Given the description of an element on the screen output the (x, y) to click on. 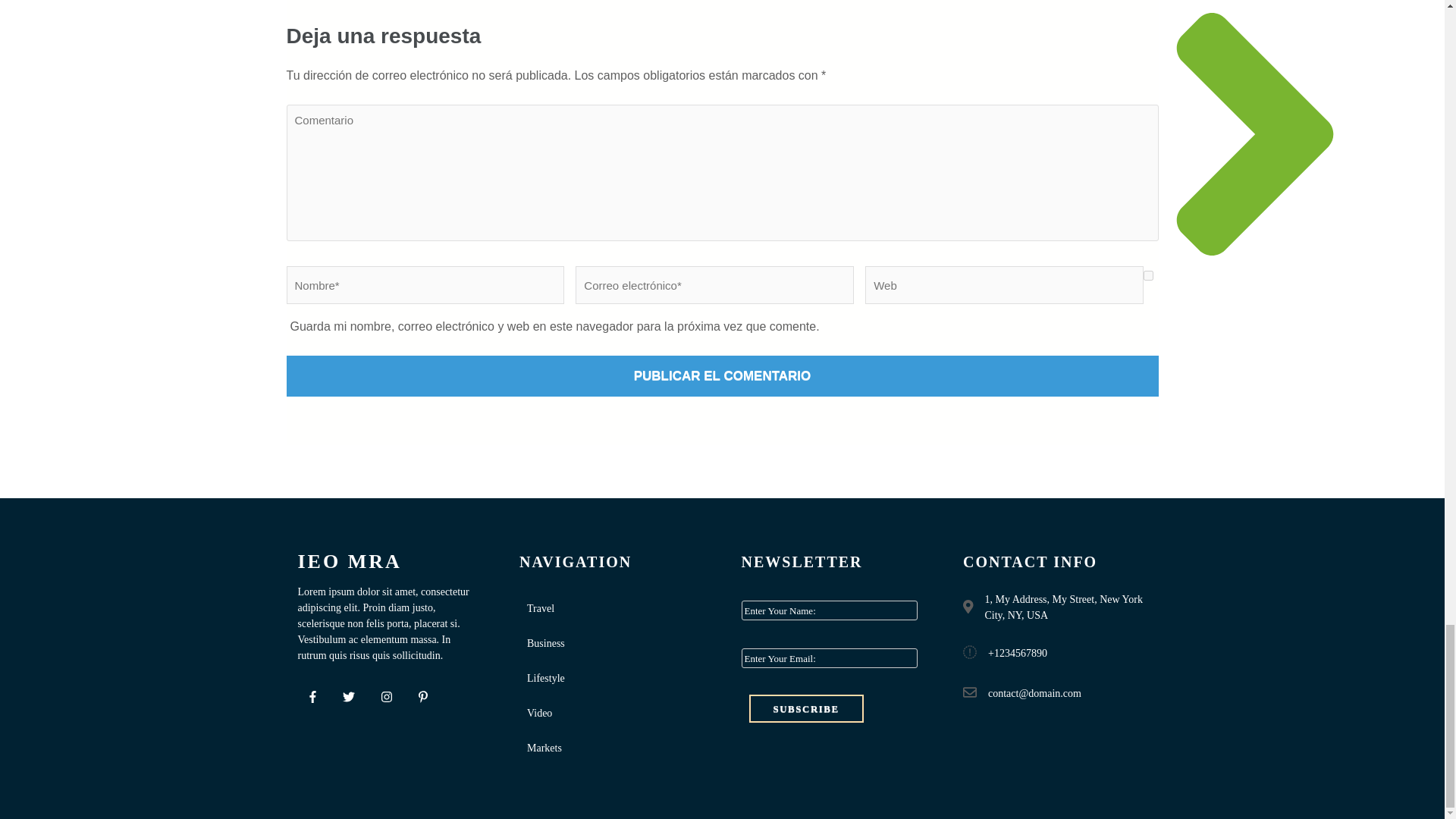
yes (1147, 275)
Publicar el comentario (722, 375)
